Given the description of an element on the screen output the (x, y) to click on. 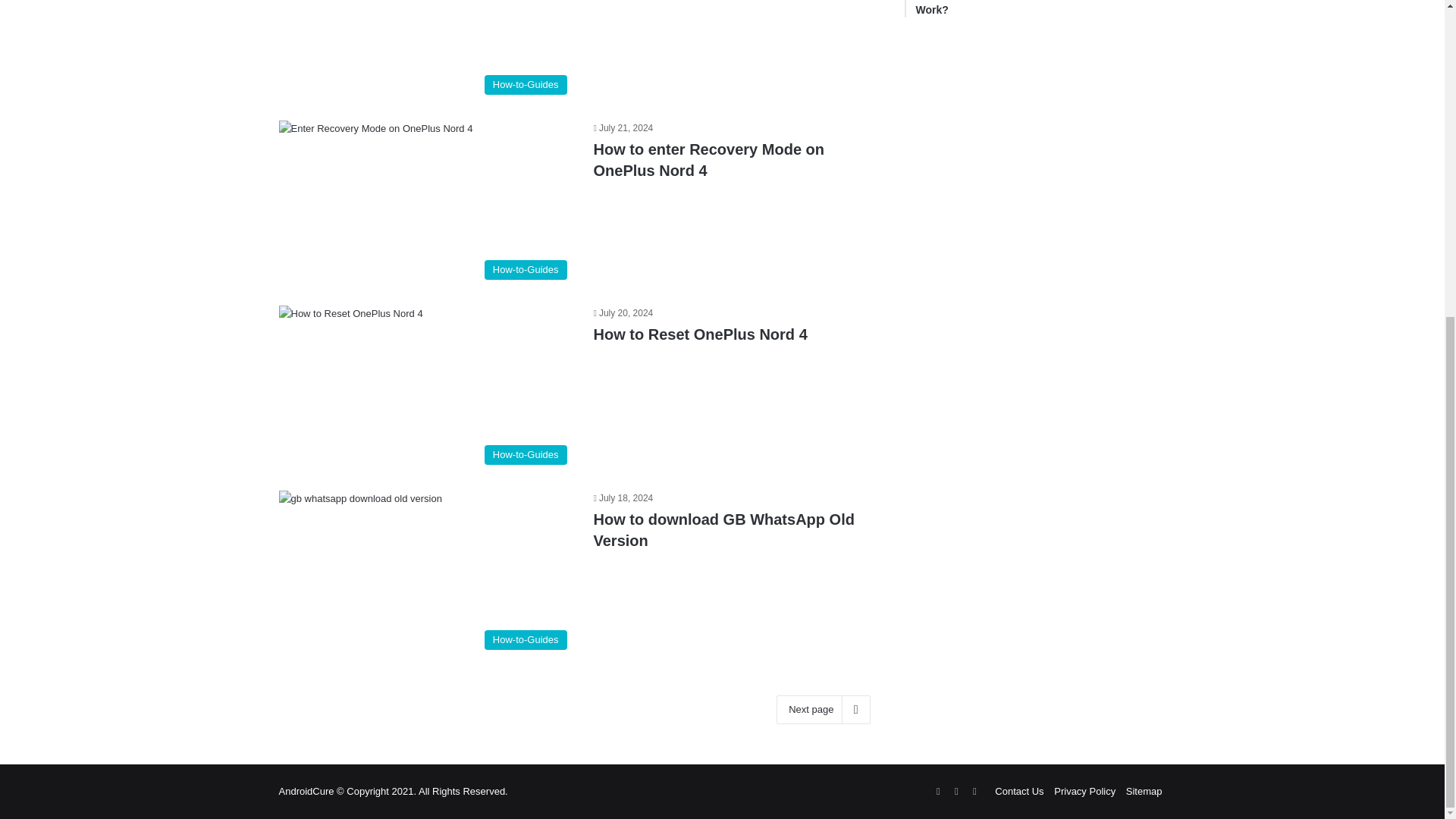
How-to-Guides (427, 573)
How to enter Recovery Mode on OnePlus Nord 4 (708, 159)
How-to-Guides (427, 203)
Facebook (956, 791)
Next page (822, 709)
Sitemap (1143, 790)
X (974, 791)
Privacy Policy (1084, 790)
How-to-Guides (427, 51)
How-to-Guides (427, 388)
RSS (937, 791)
Contact Us (1040, 8)
How to download GB WhatsApp Old Version (1018, 790)
How to Reset OnePlus Nord 4 (722, 529)
